Given the description of an element on the screen output the (x, y) to click on. 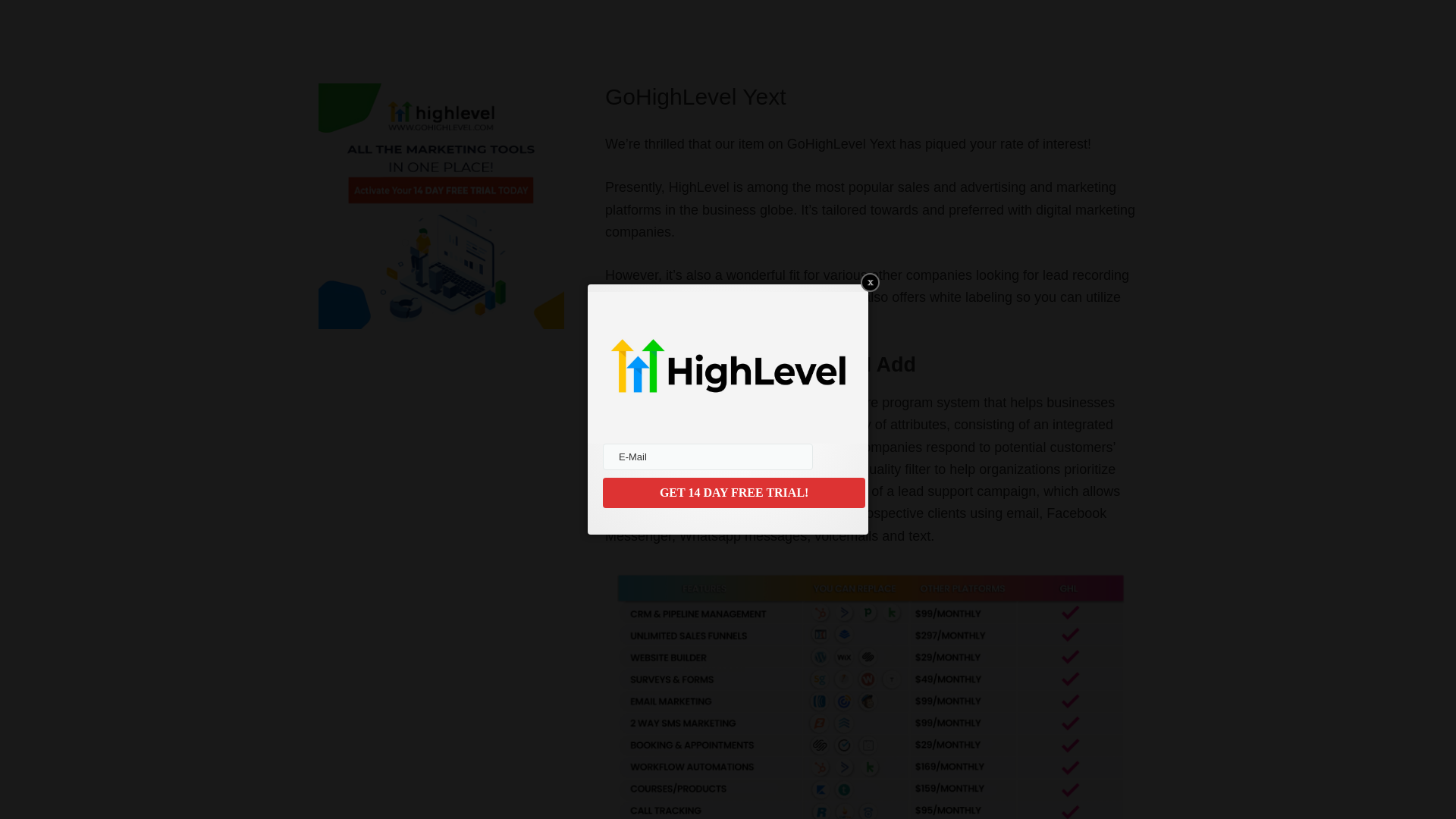
GET 14 DAY FREE TRIAL! (733, 492)
GET 14 DAY FREE TRIAL! (733, 492)
